Given the description of an element on the screen output the (x, y) to click on. 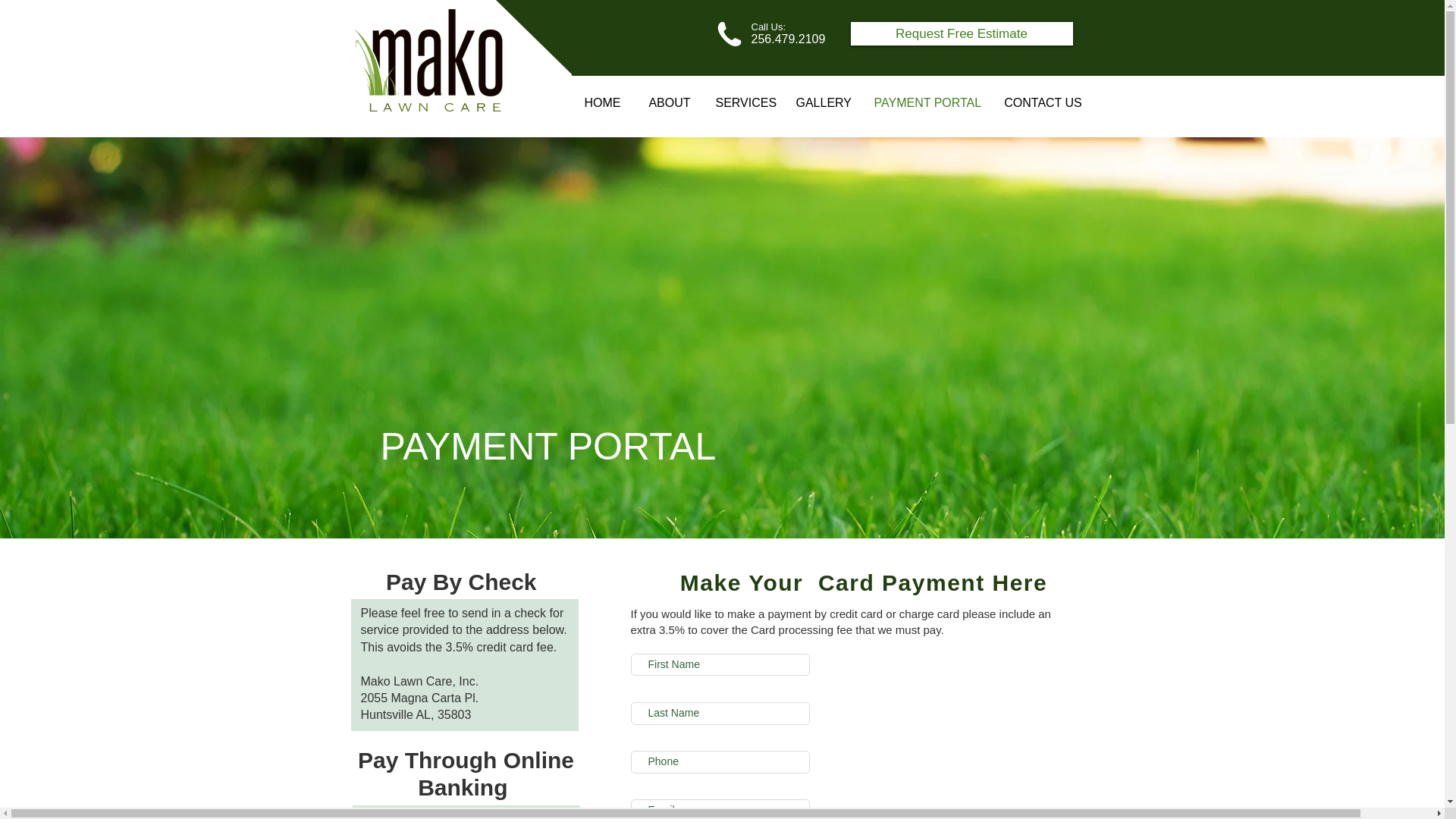
Request Free Estimate (961, 33)
Call Us: (768, 25)
CONTACT US (1042, 103)
GALLERY (822, 103)
ABOUT (669, 103)
PAYMENT PORTAL (927, 103)
HOME (602, 103)
256.479.2109 (788, 38)
SERVICES (743, 103)
